Given the description of an element on the screen output the (x, y) to click on. 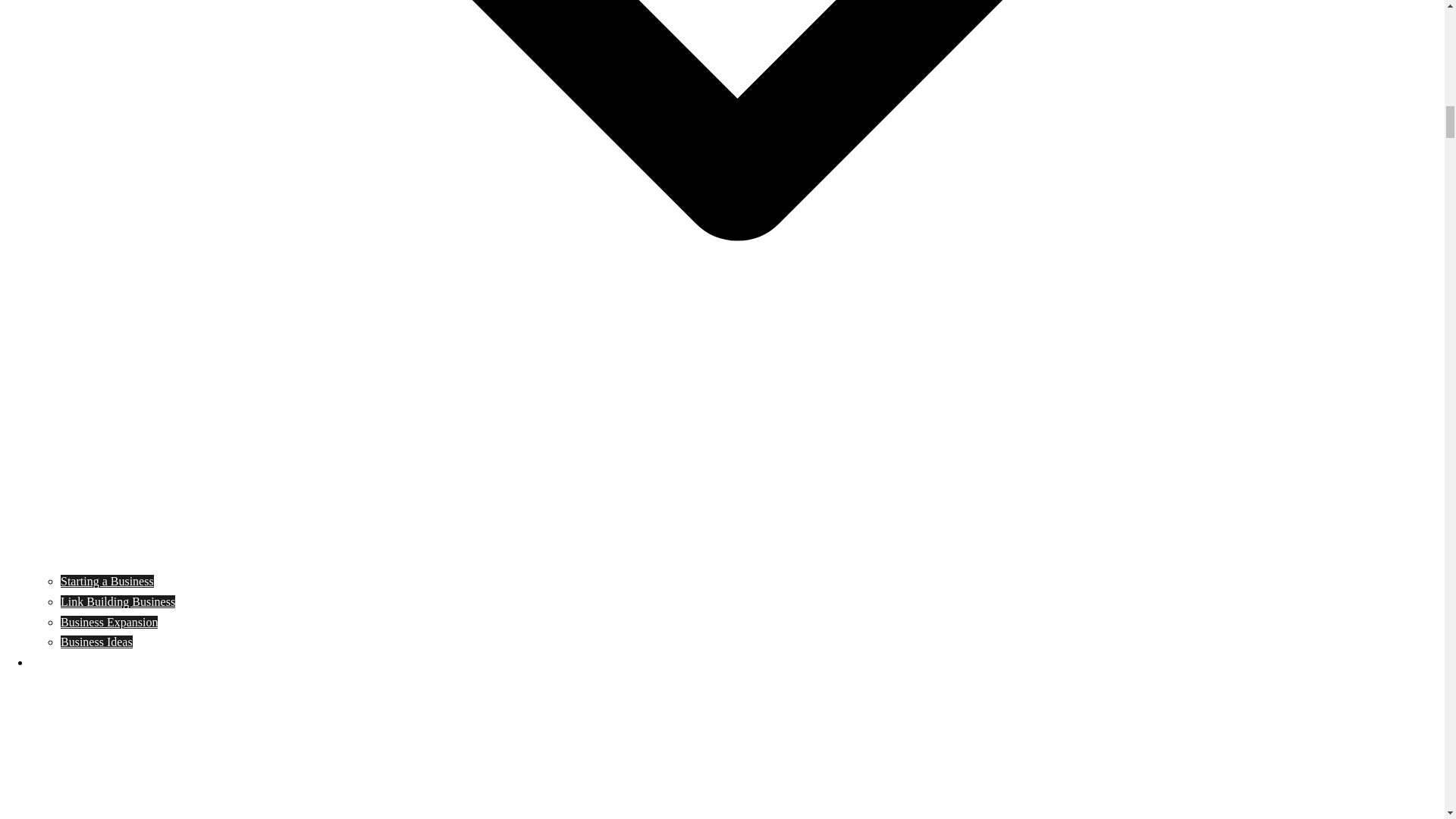
Implementation (68, 662)
Starting a Business (107, 581)
Business Ideas (96, 641)
Business Expansion (109, 621)
Link Building Business (117, 601)
